Given the description of an element on the screen output the (x, y) to click on. 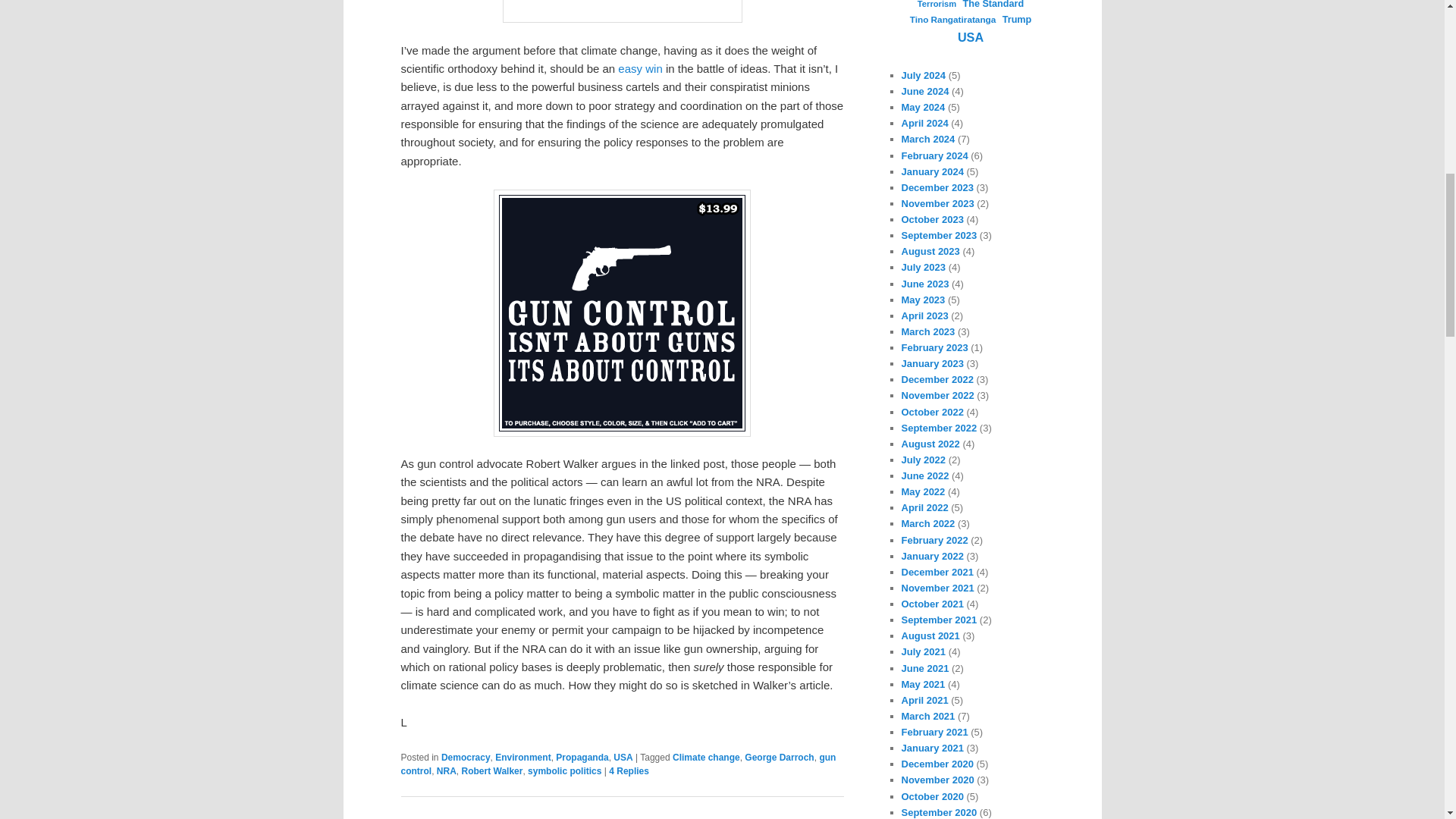
easy win (639, 68)
NRA (446, 770)
symbolic politics (564, 770)
fail (621, 11)
USA (621, 757)
Robert Walker (491, 770)
Propaganda (582, 757)
Environment (522, 757)
gun control (617, 764)
Climate change (705, 757)
